Given the description of an element on the screen output the (x, y) to click on. 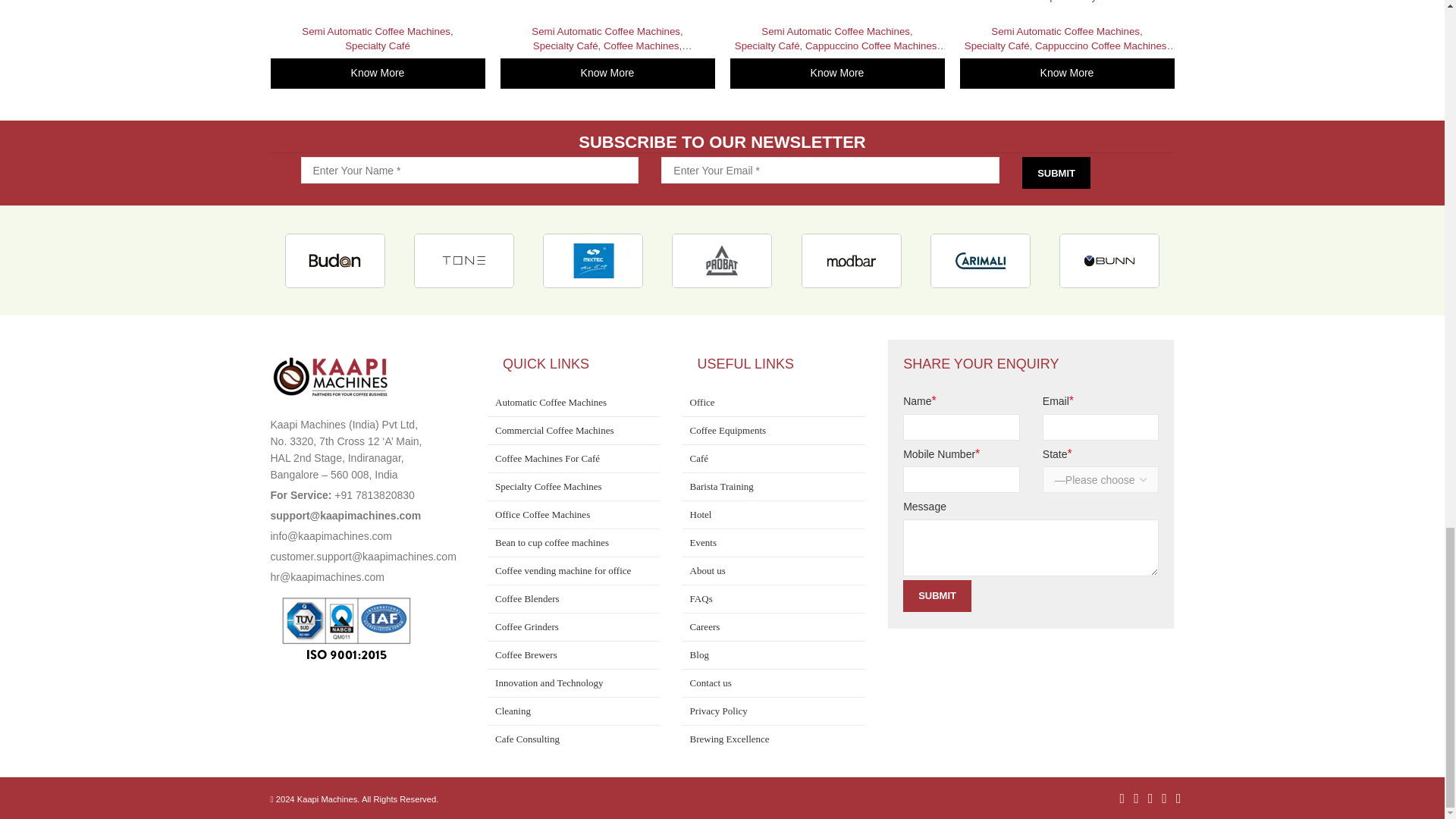
SUBMIT (1056, 173)
SUBMIT (936, 595)
